Given the description of an element on the screen output the (x, y) to click on. 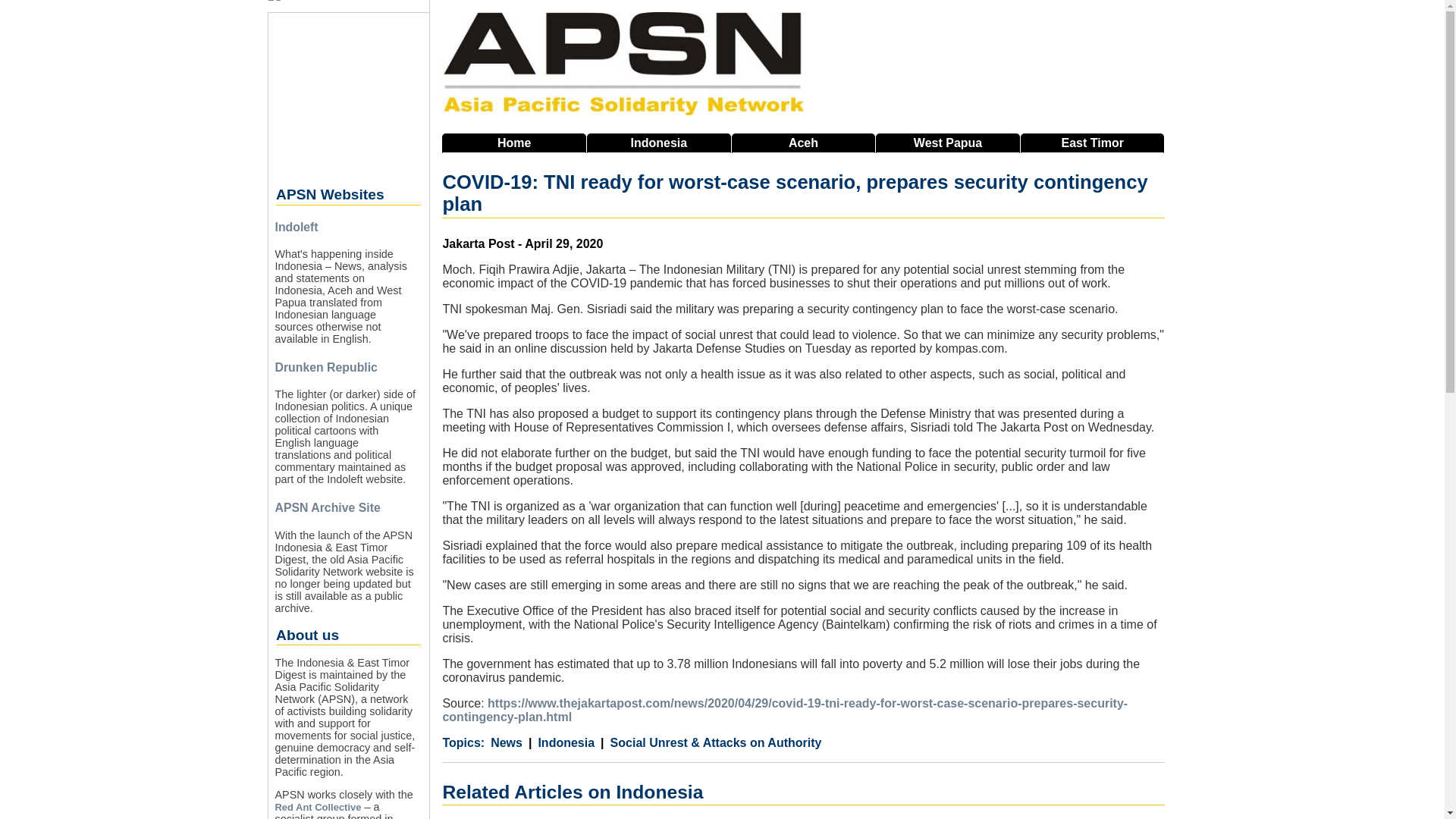
Home (514, 143)
West Papua (948, 143)
Indonesia (561, 743)
Indonesia (658, 143)
Drunken Republic (326, 367)
Aceh (804, 143)
Indoleft (296, 226)
News (506, 743)
East Timor (1092, 143)
